Given the description of an element on the screen output the (x, y) to click on. 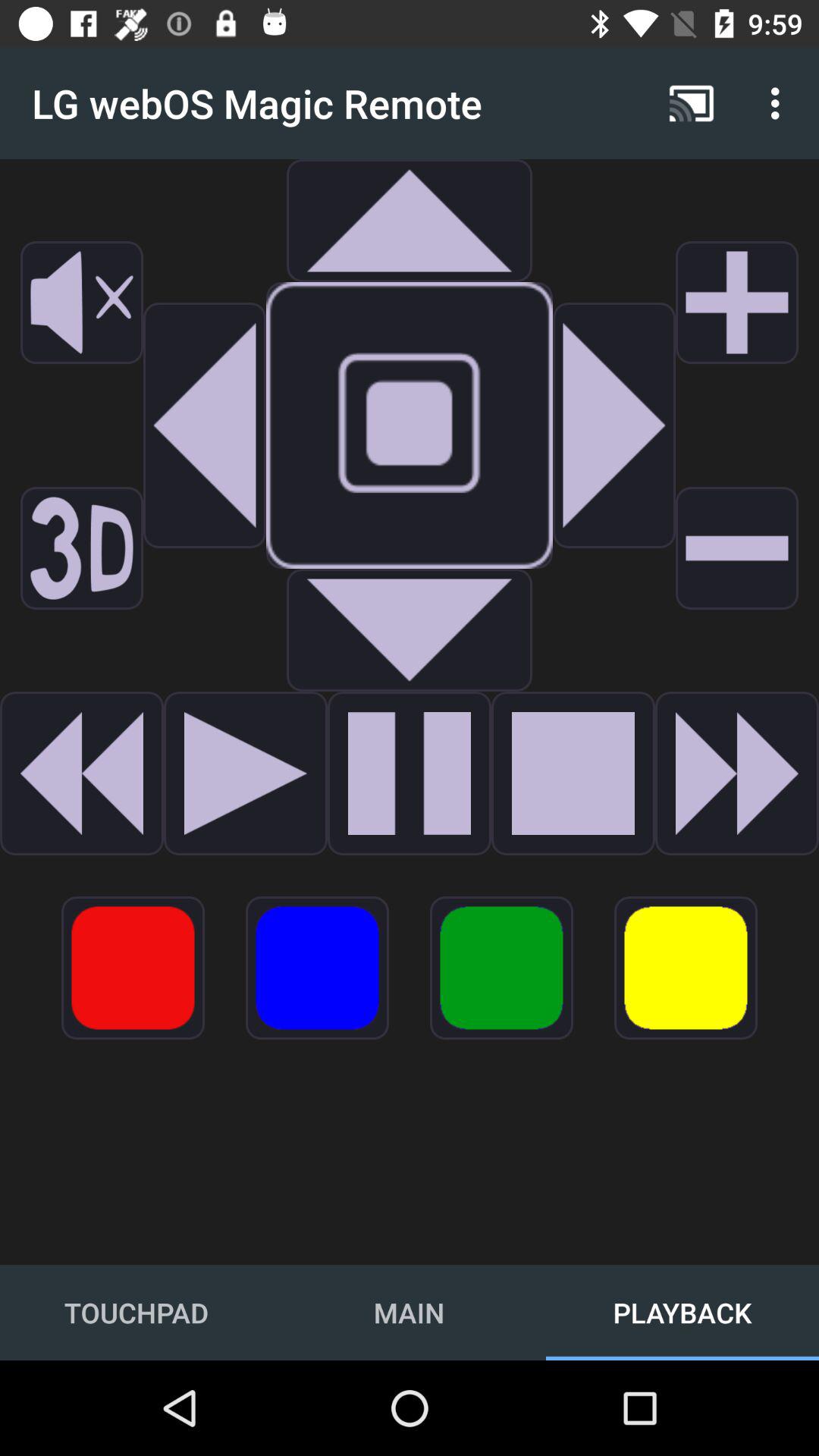
go do coular (132, 967)
